Given the description of an element on the screen output the (x, y) to click on. 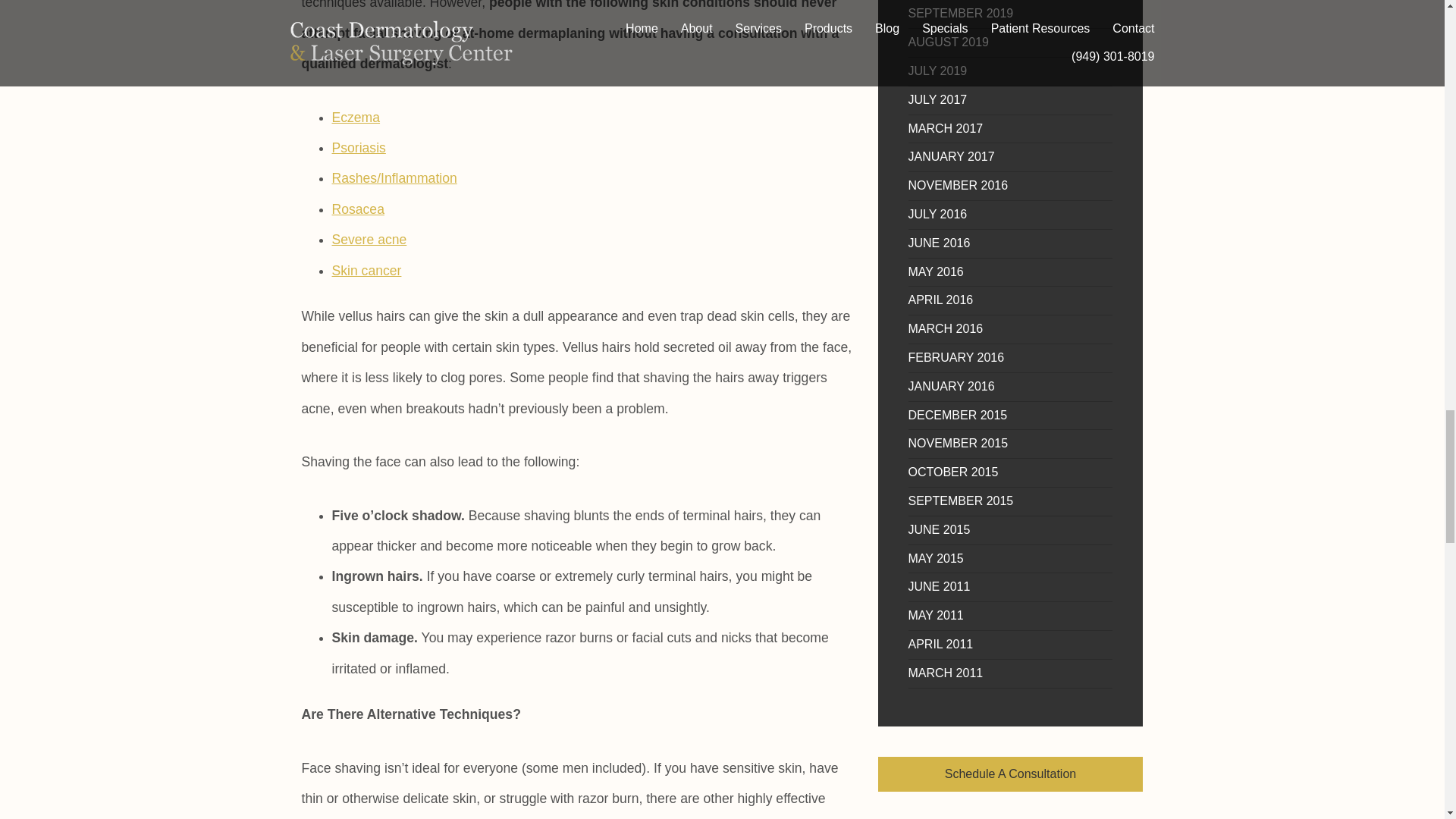
Rosacea (357, 209)
Eczema (355, 117)
Severe acne (369, 239)
Skin cancer (366, 270)
Psoriasis (358, 147)
